Given the description of an element on the screen output the (x, y) to click on. 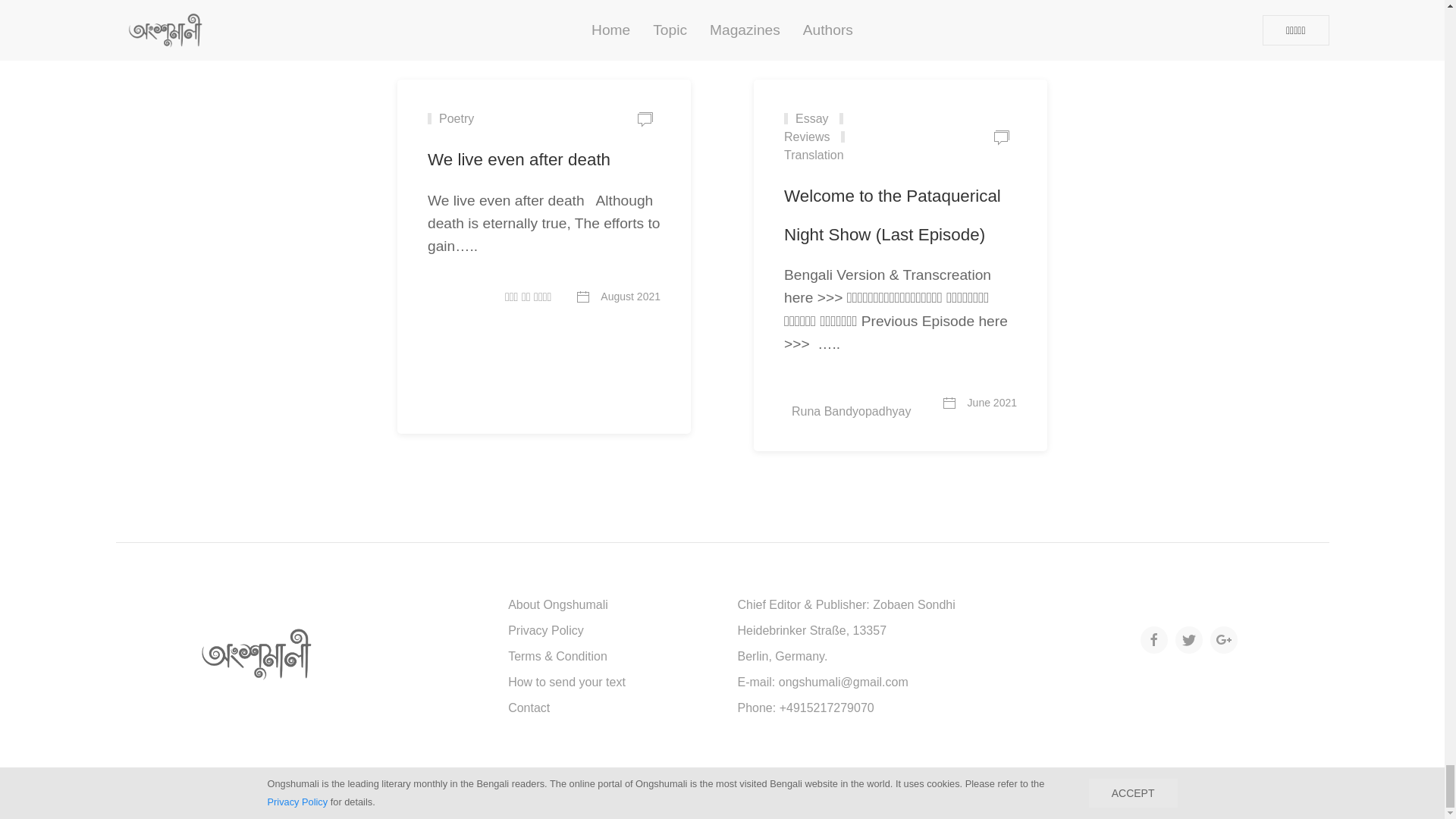
We live even after death (519, 158)
Translation (817, 145)
Essay (806, 118)
Runa Bandyopadhyay (867, 403)
Reviews (817, 127)
Poetry (451, 118)
